Given the description of an element on the screen output the (x, y) to click on. 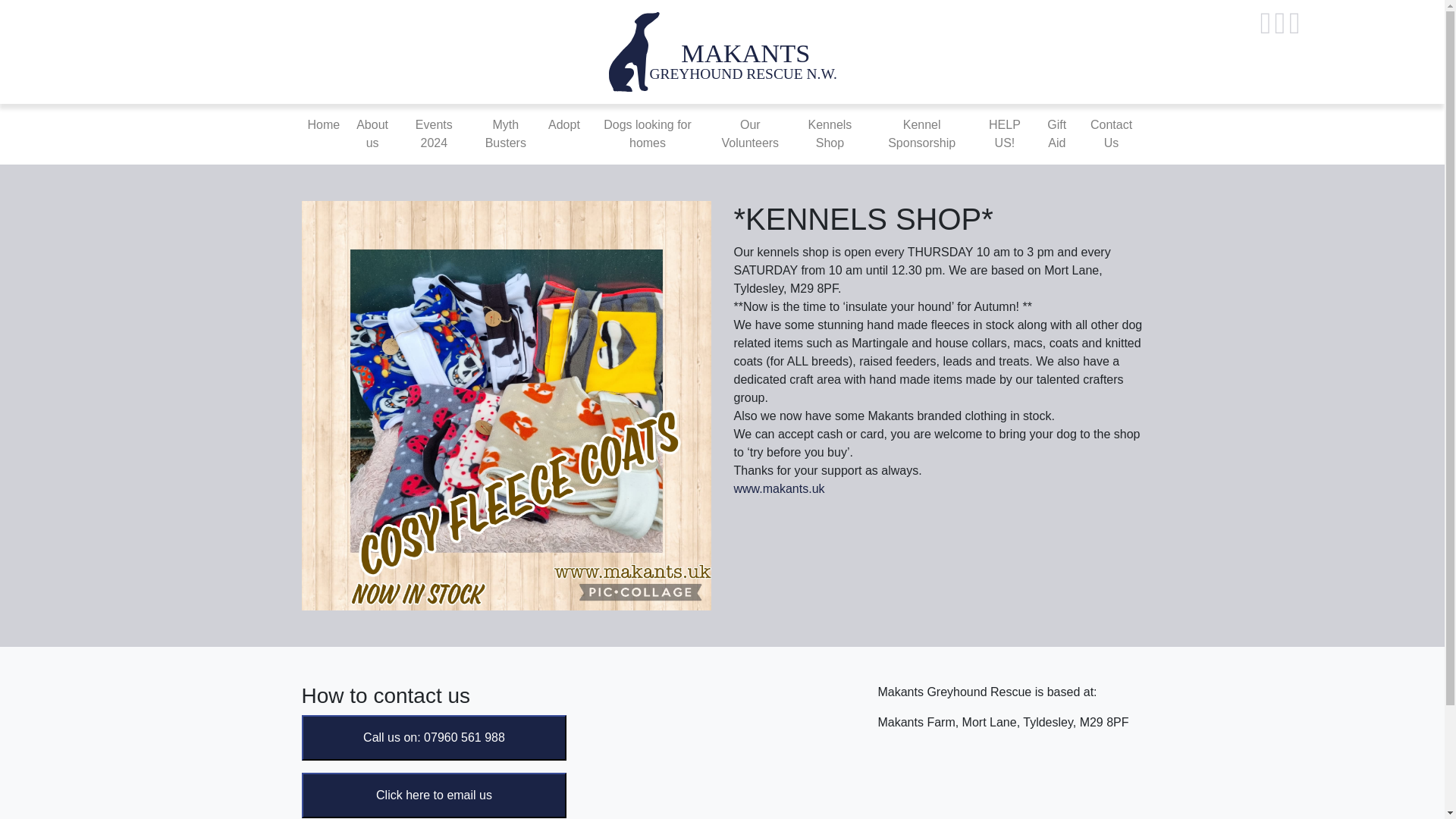
Events 2024 (433, 133)
Myth Busters (504, 133)
Events 2024 (433, 133)
Home (323, 124)
Dogs looking for homes (647, 133)
Home (323, 124)
HELP US! (1004, 133)
Gift Aid (1056, 133)
HELP US! (1004, 133)
Adopt (563, 124)
